Given the description of an element on the screen output the (x, y) to click on. 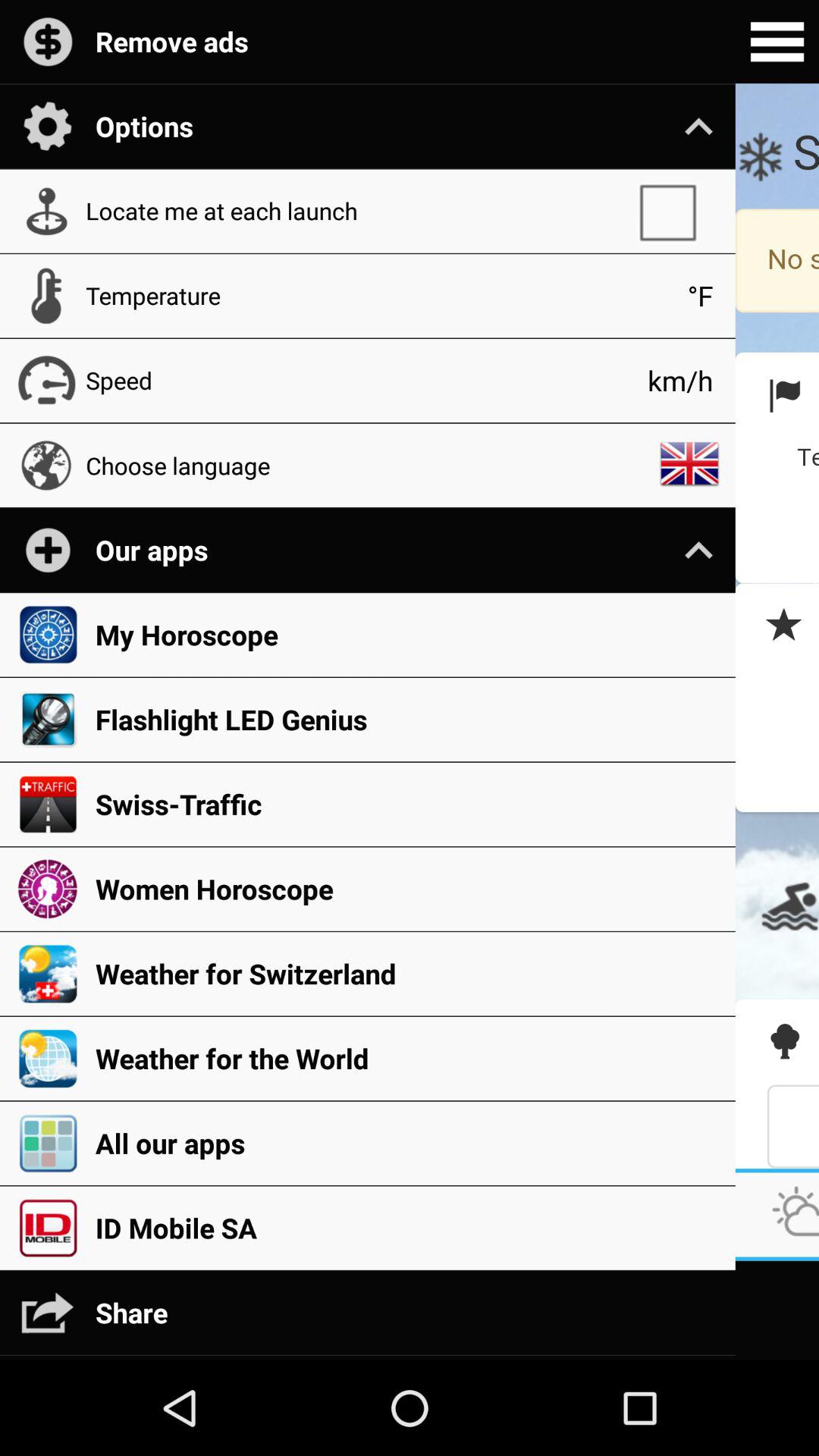
turn on the app to the right of temperature app (700, 295)
